Given the description of an element on the screen output the (x, y) to click on. 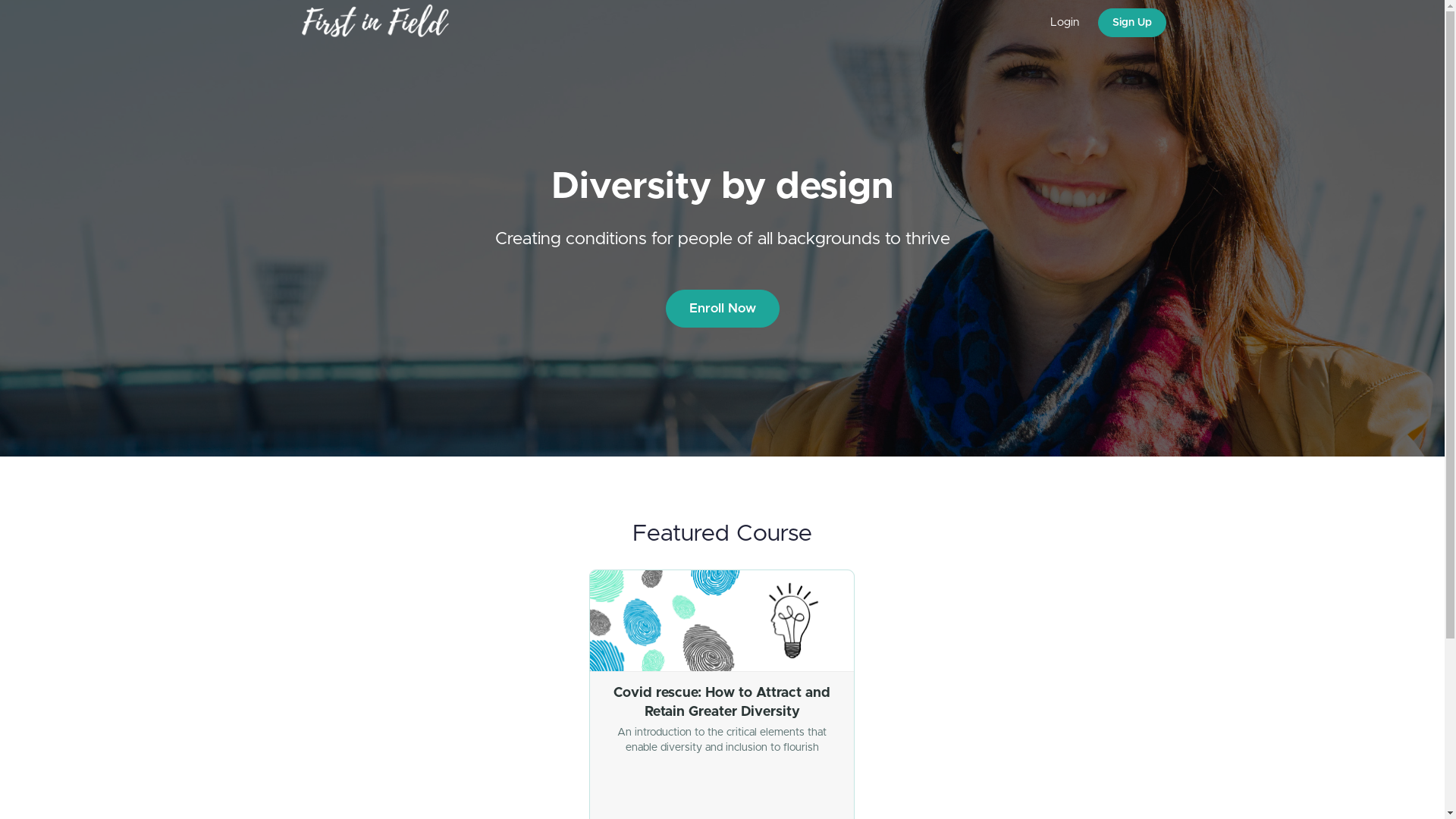
Sign Up Element type: text (1132, 22)
Login Element type: text (1064, 22)
Enroll Now Element type: text (722, 308)
